Given the description of an element on the screen output the (x, y) to click on. 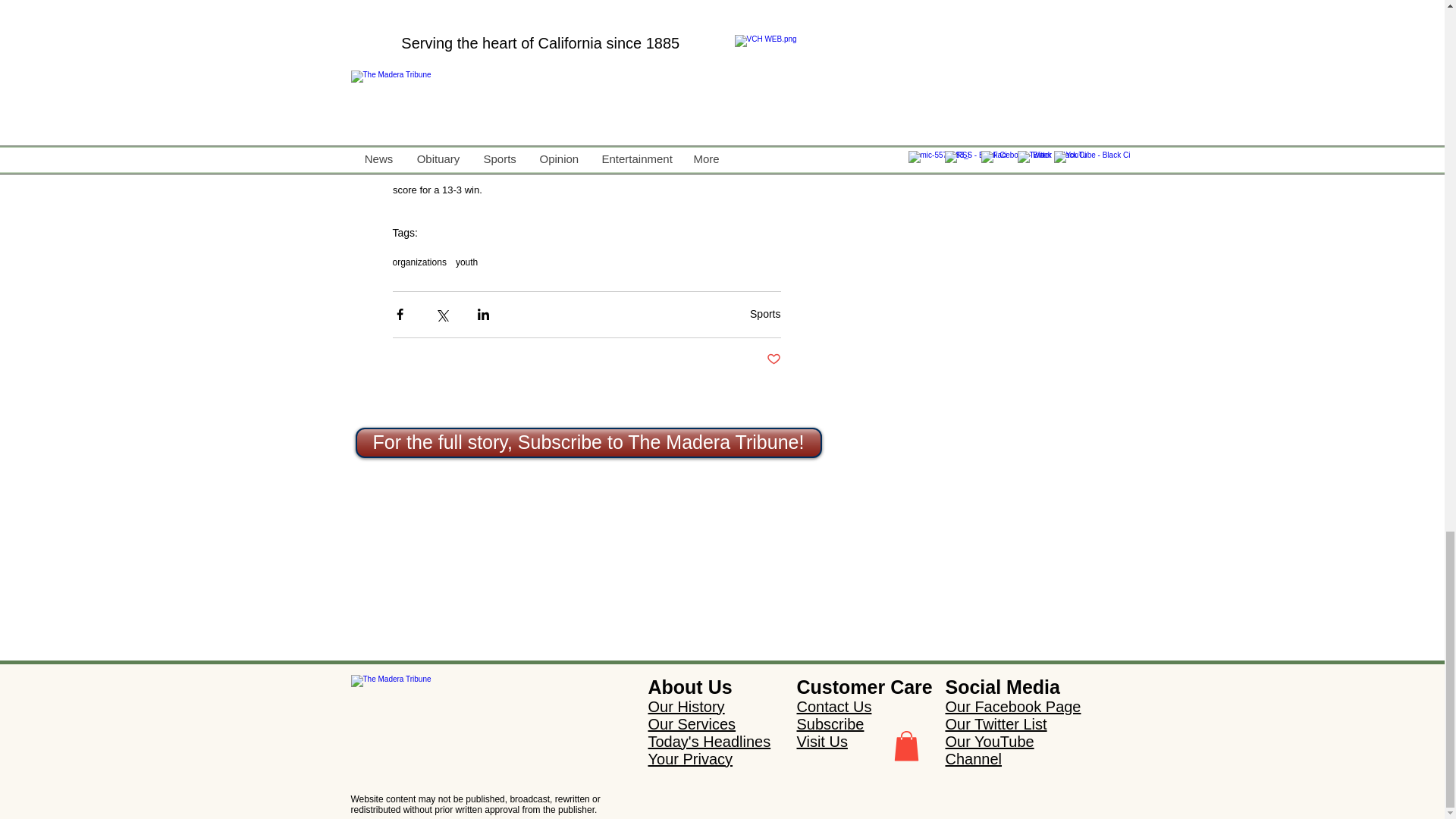
Today's Headlines (708, 741)
For the full story, Subscribe to The Madera Tribune! (588, 442)
Our History (685, 706)
Post not marked as liked (772, 359)
organizations (419, 262)
Subscribe (829, 723)
Sports (764, 313)
Reload the latest headlines (455, 687)
Our Twitter List (995, 723)
Our YouTube Channel (988, 750)
